Given the description of an element on the screen output the (x, y) to click on. 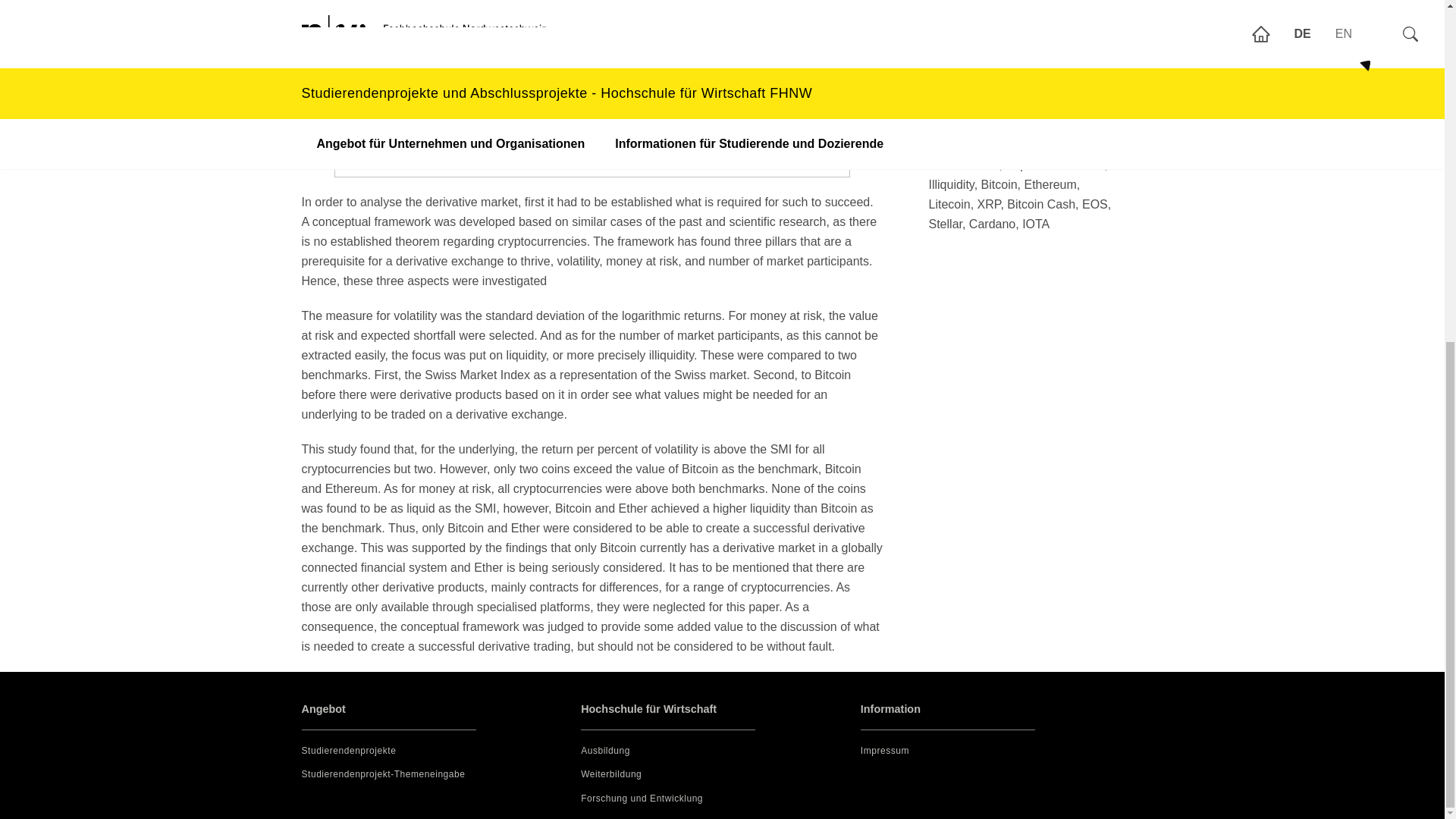
Forschung und Entwicklung (641, 798)
Ausbildung (605, 750)
Weiterbildung (611, 774)
Impressum (884, 750)
Studierendenprojekt-Themeneingabe (383, 774)
Studierendenprojekte (348, 750)
